Given the description of an element on the screen output the (x, y) to click on. 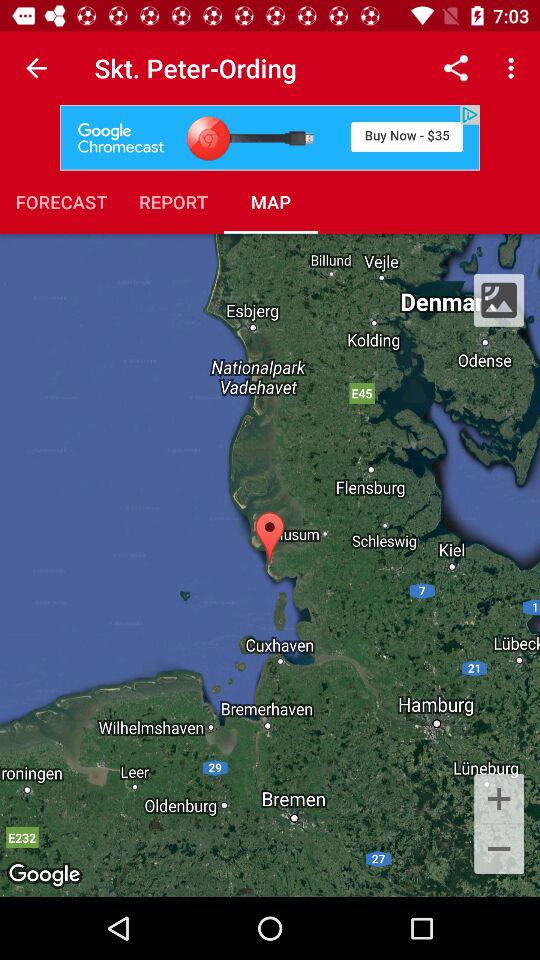
selection of an advertisement (270, 137)
